Given the description of an element on the screen output the (x, y) to click on. 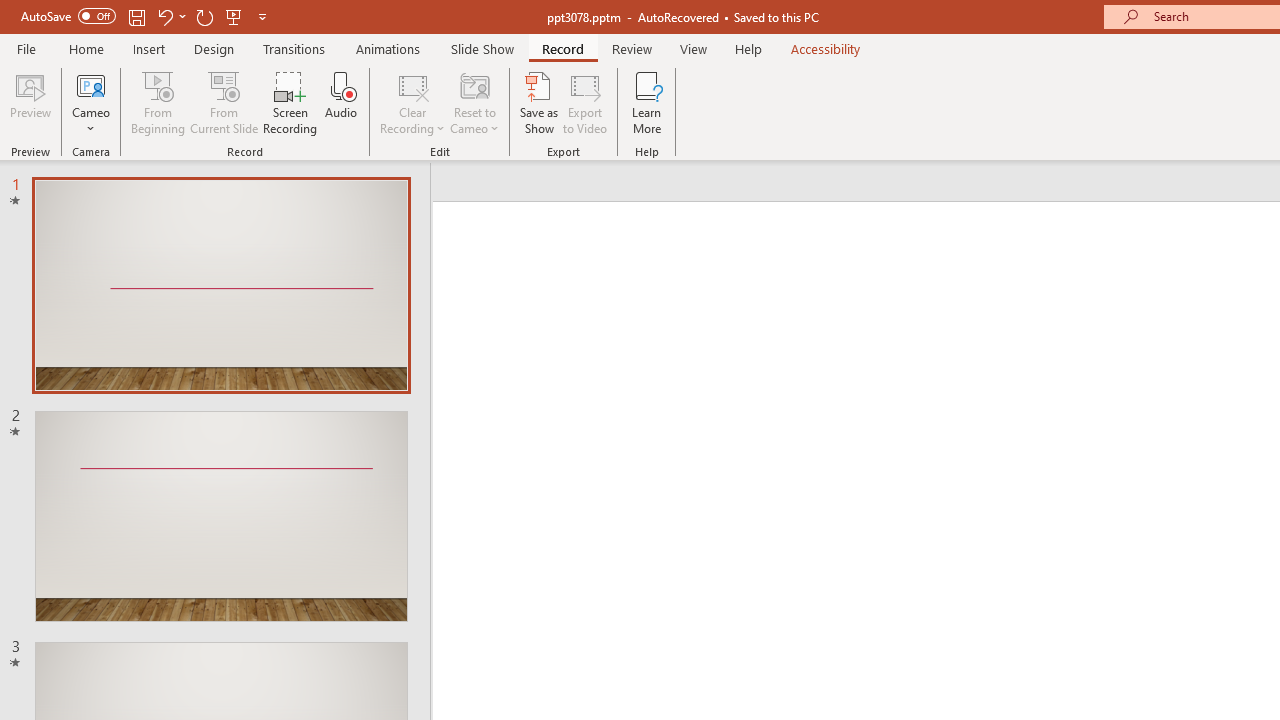
Learn More (646, 102)
Reset to Cameo (474, 102)
Save as Show (539, 102)
